Given the description of an element on the screen output the (x, y) to click on. 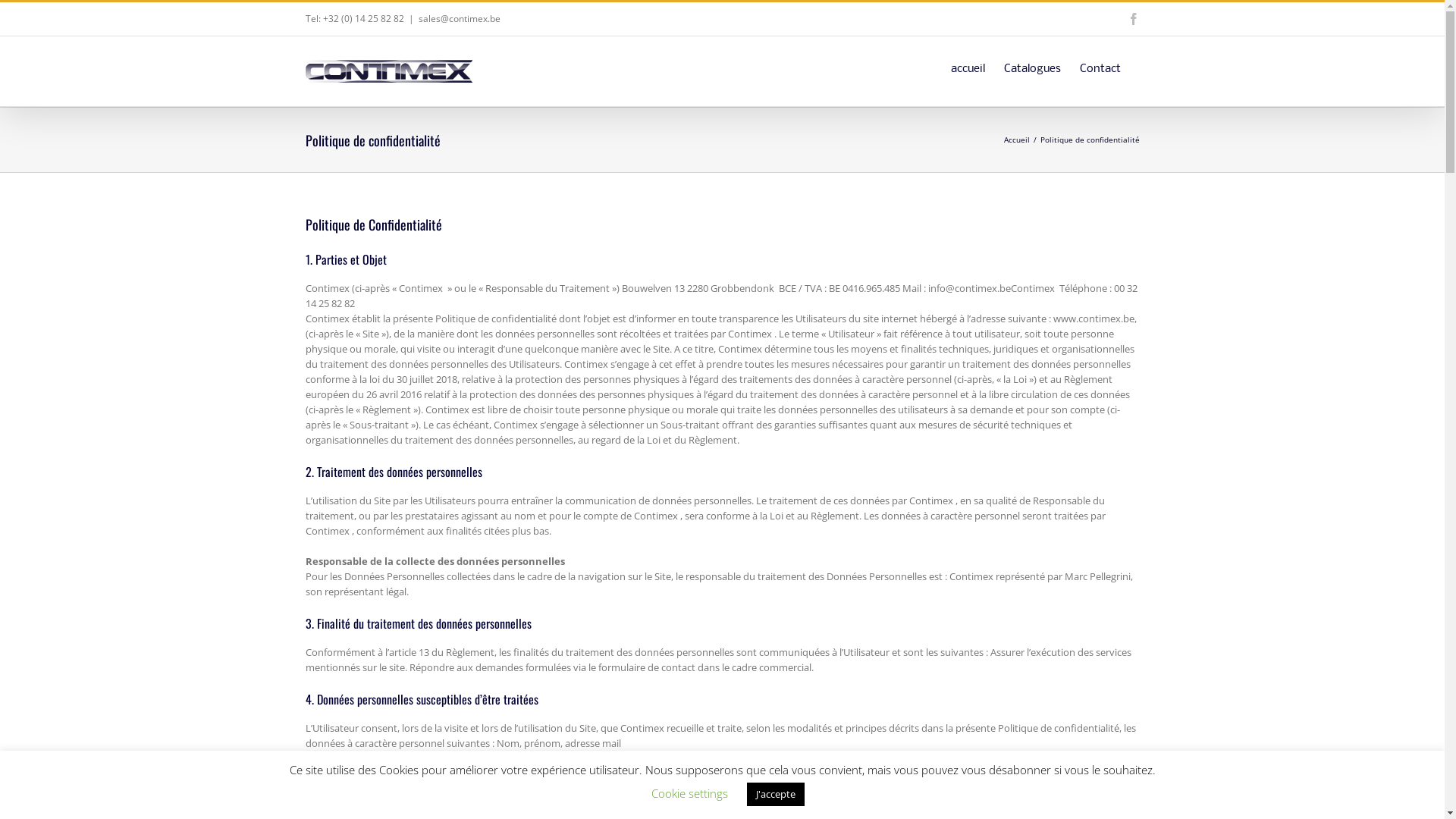
Contact Element type: text (1099, 67)
sales@contimex.be Element type: text (459, 18)
J'accepte Element type: text (775, 794)
Catalogues Element type: text (1032, 67)
Facebook Element type: text (1132, 18)
Accueil Element type: text (1016, 139)
accueil Element type: text (967, 67)
Cookie settings Element type: text (689, 792)
